Given the description of an element on the screen output the (x, y) to click on. 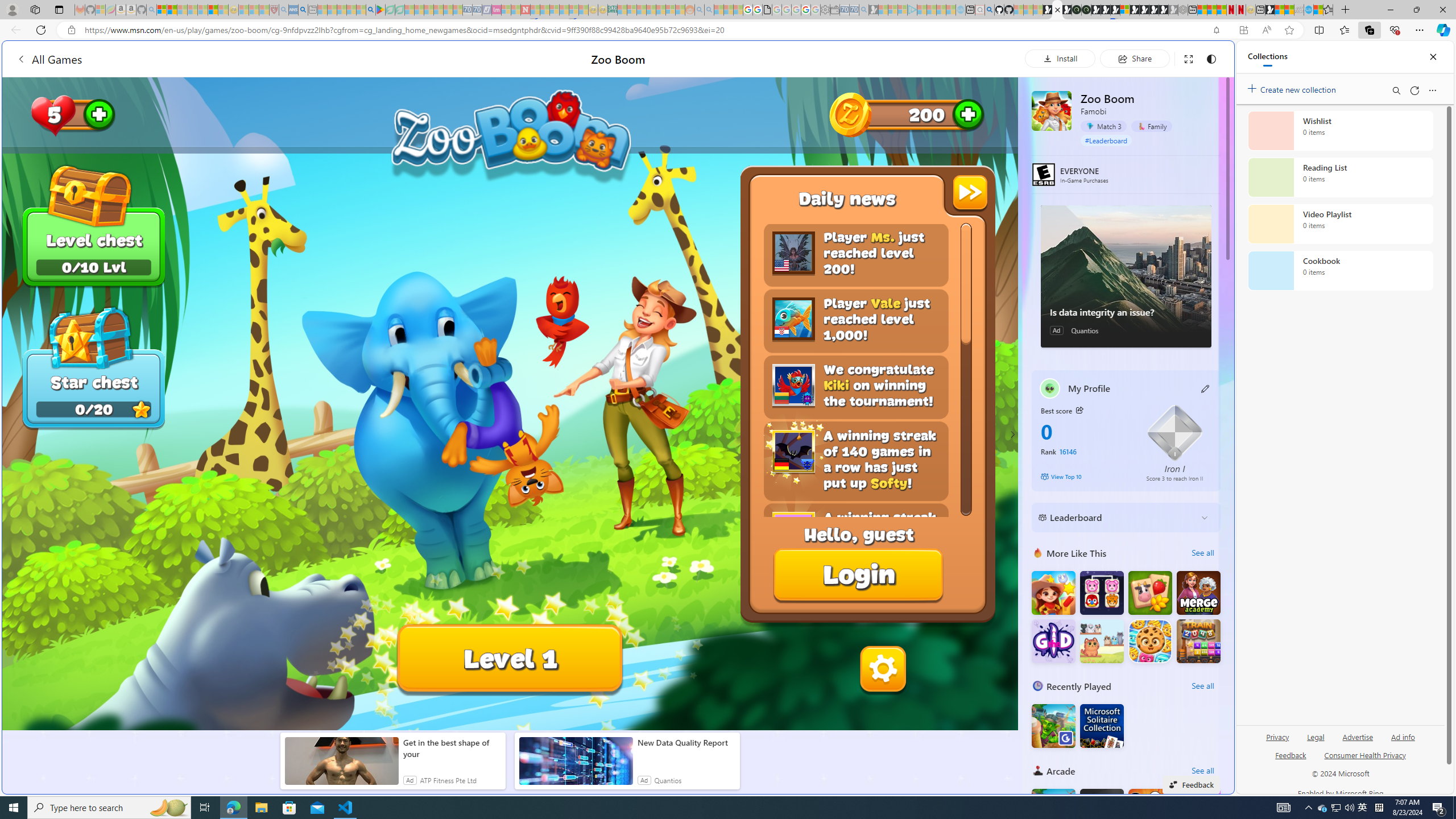
Get in the best shape of your (451, 748)
See all (1202, 770)
Change to dark mode (1211, 58)
Terms of Use Agreement - Sleeping (390, 9)
Quantios (667, 779)
